Given the description of an element on the screen output the (x, y) to click on. 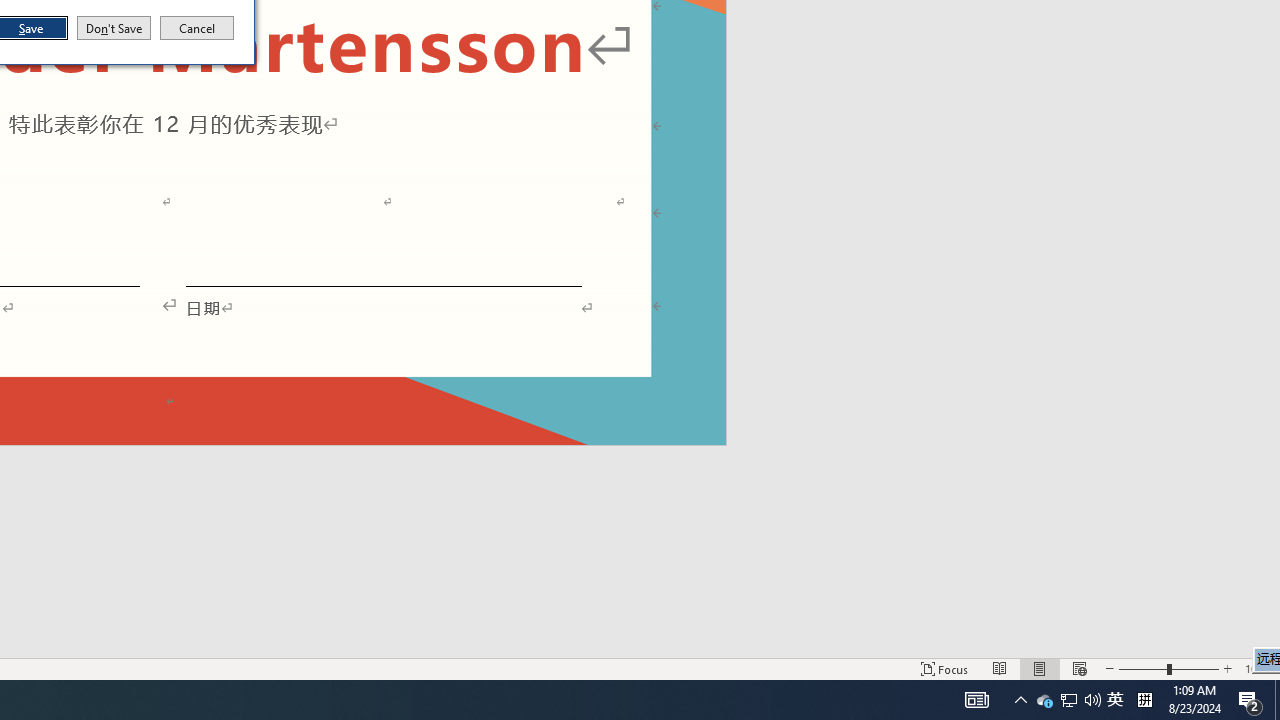
User Promoted Notification Area (1068, 699)
Tray Input Indicator - Chinese (Simplified, China) (1144, 699)
AutomationID: 4105 (976, 699)
Q2790: 100% (1092, 699)
Read Mode (1000, 668)
Zoom Out (1142, 668)
Zoom (1168, 668)
Cancel (197, 27)
Zoom In (1069, 699)
Print Layout (1227, 668)
Web Layout (1039, 668)
Zoom 100% (1079, 668)
